Given the description of an element on the screen output the (x, y) to click on. 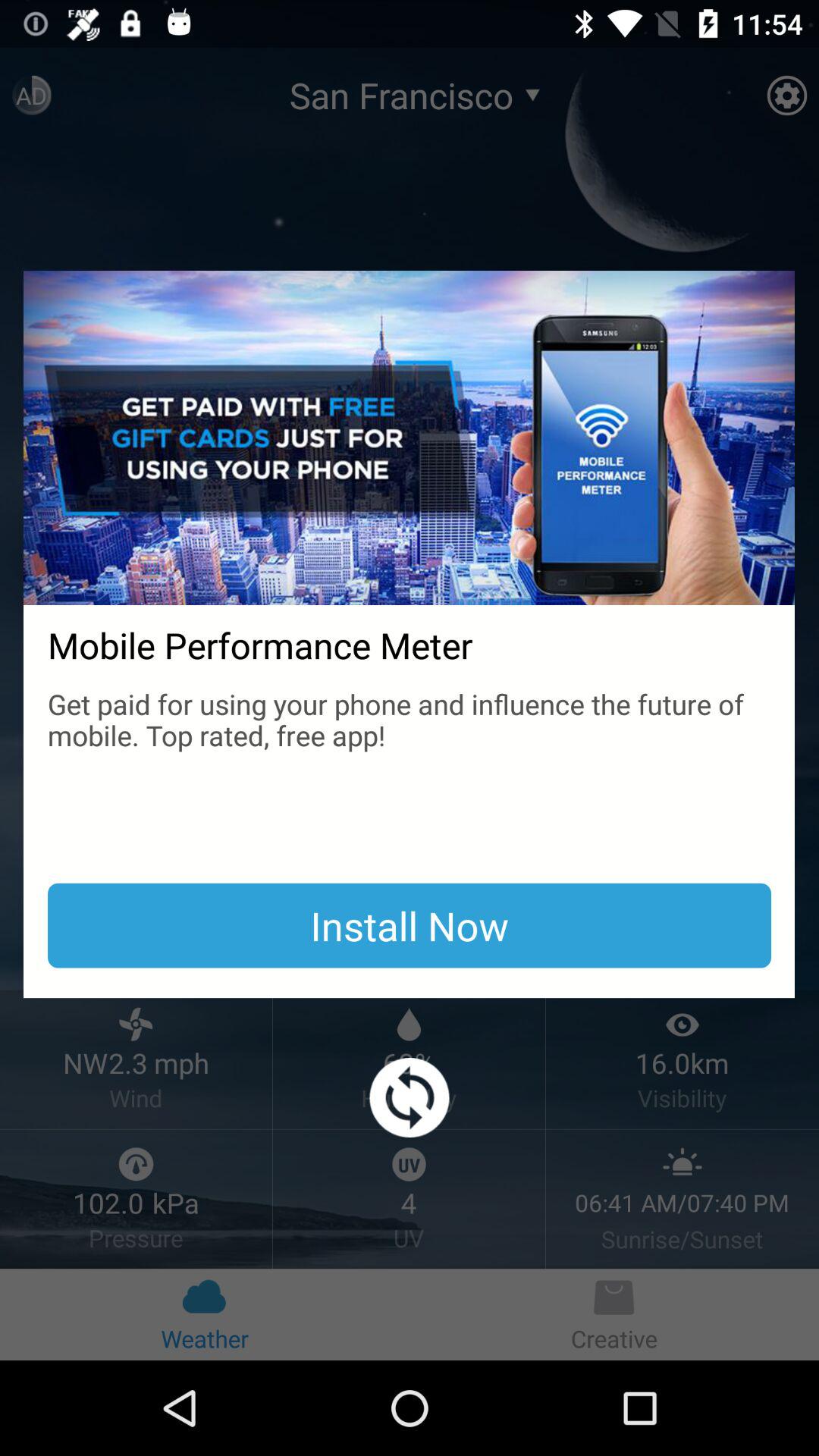
press the item at the bottom (409, 1097)
